Given the description of an element on the screen output the (x, y) to click on. 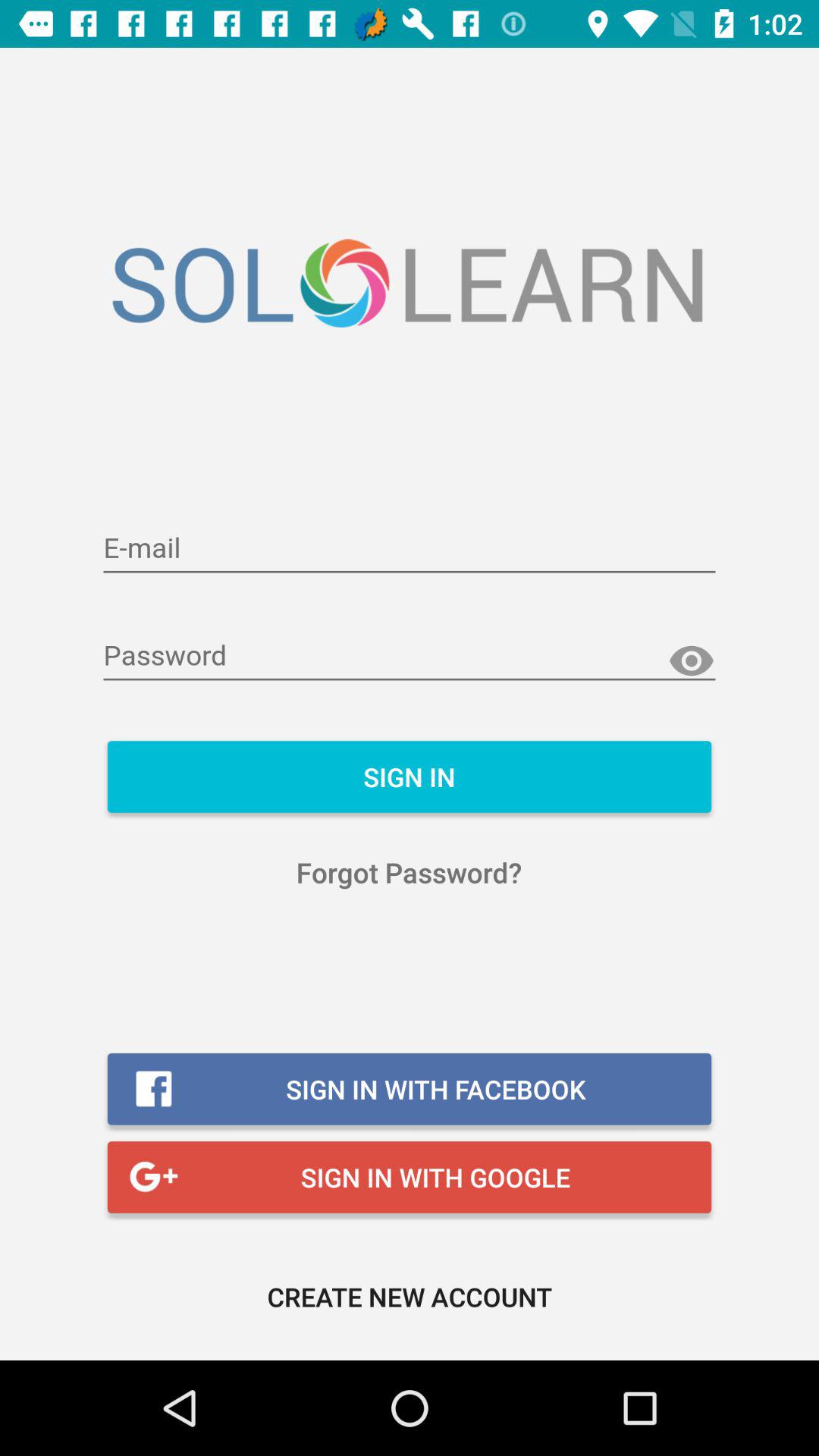
show hidden password (691, 661)
